Given the description of an element on the screen output the (x, y) to click on. 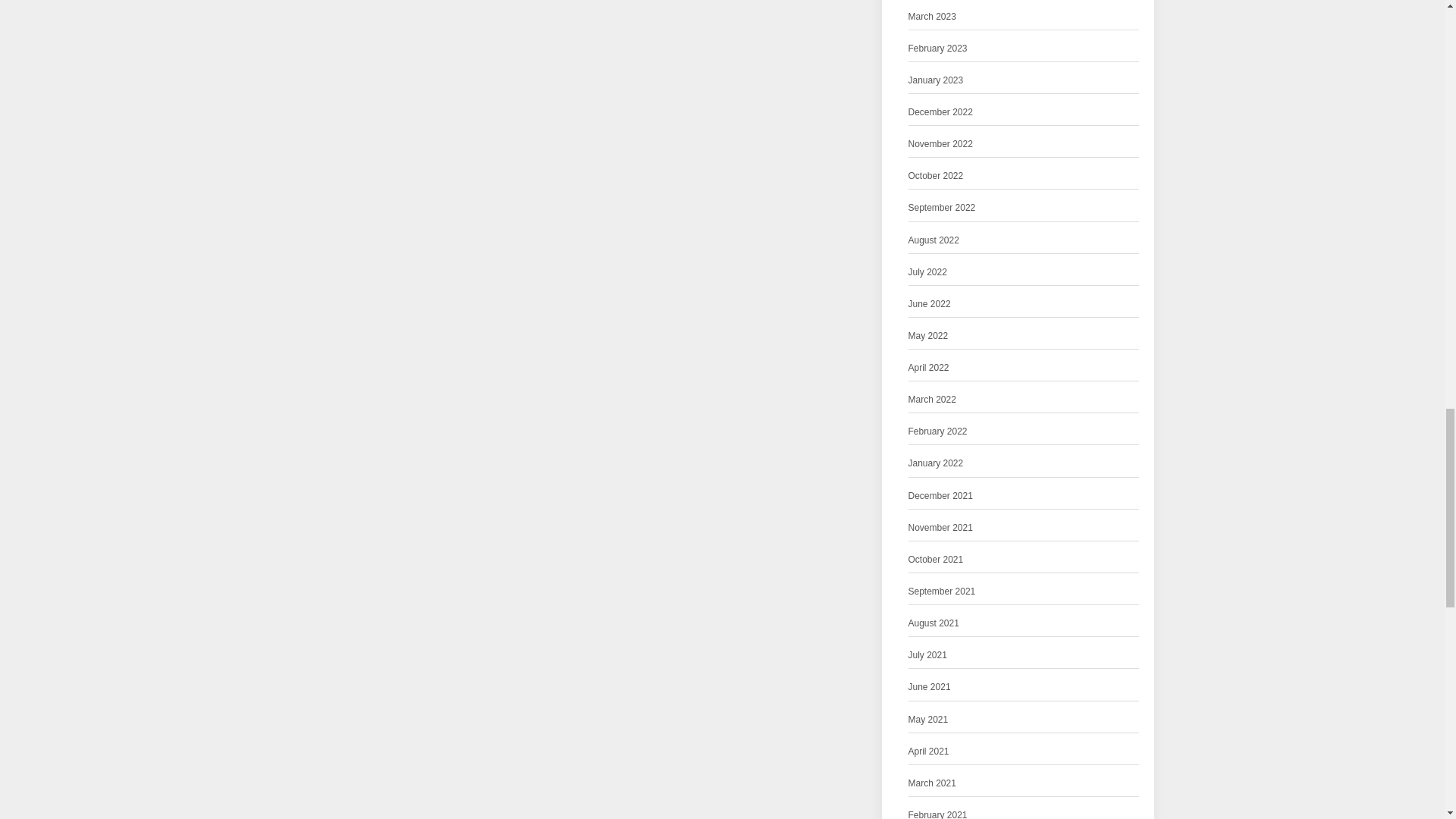
March 2023 (932, 17)
February 2023 (938, 48)
